Given the description of an element on the screen output the (x, y) to click on. 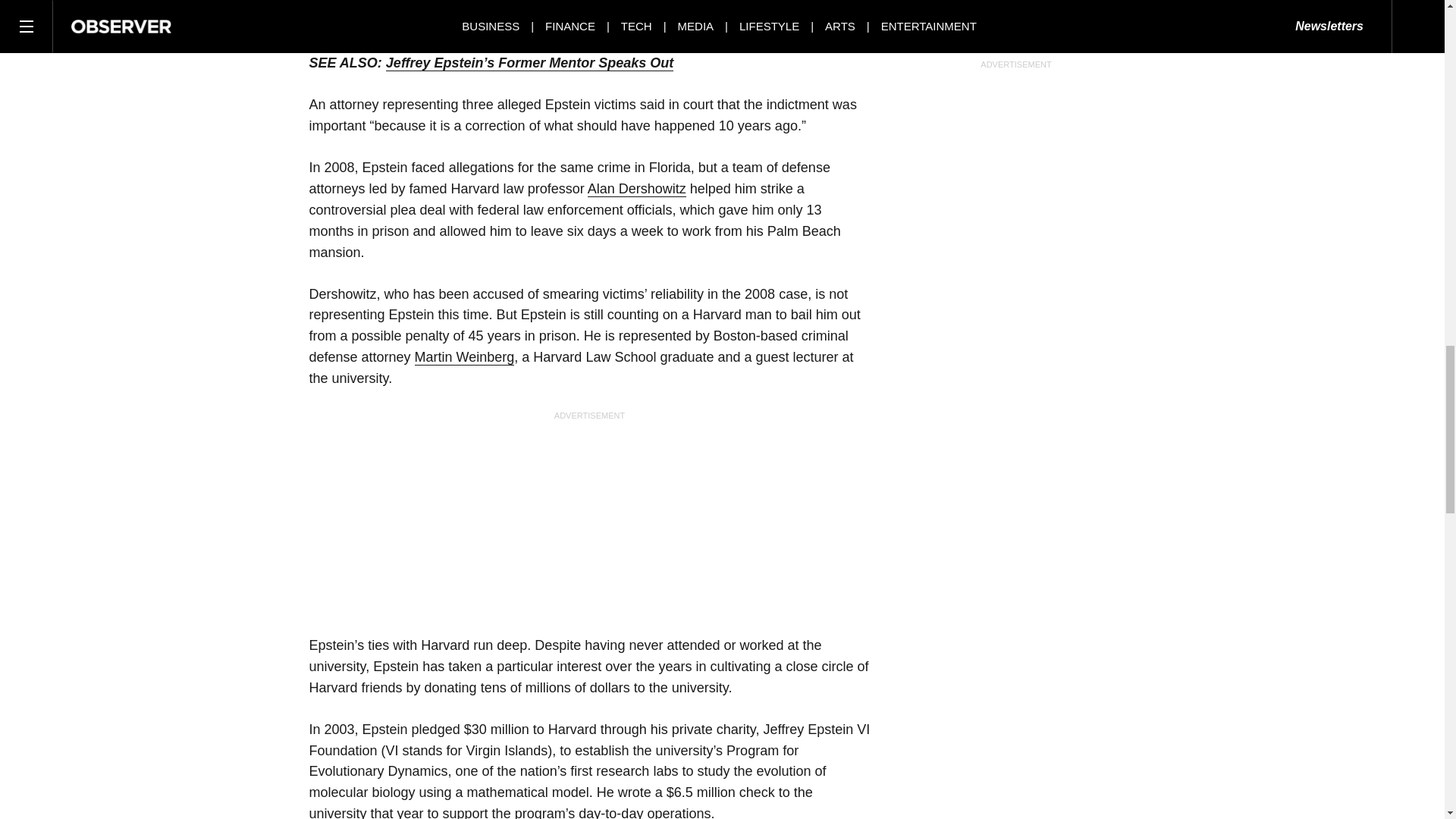
Martin Weinberg (464, 357)
Alan Dershowitz (636, 188)
